Given the description of an element on the screen output the (x, y) to click on. 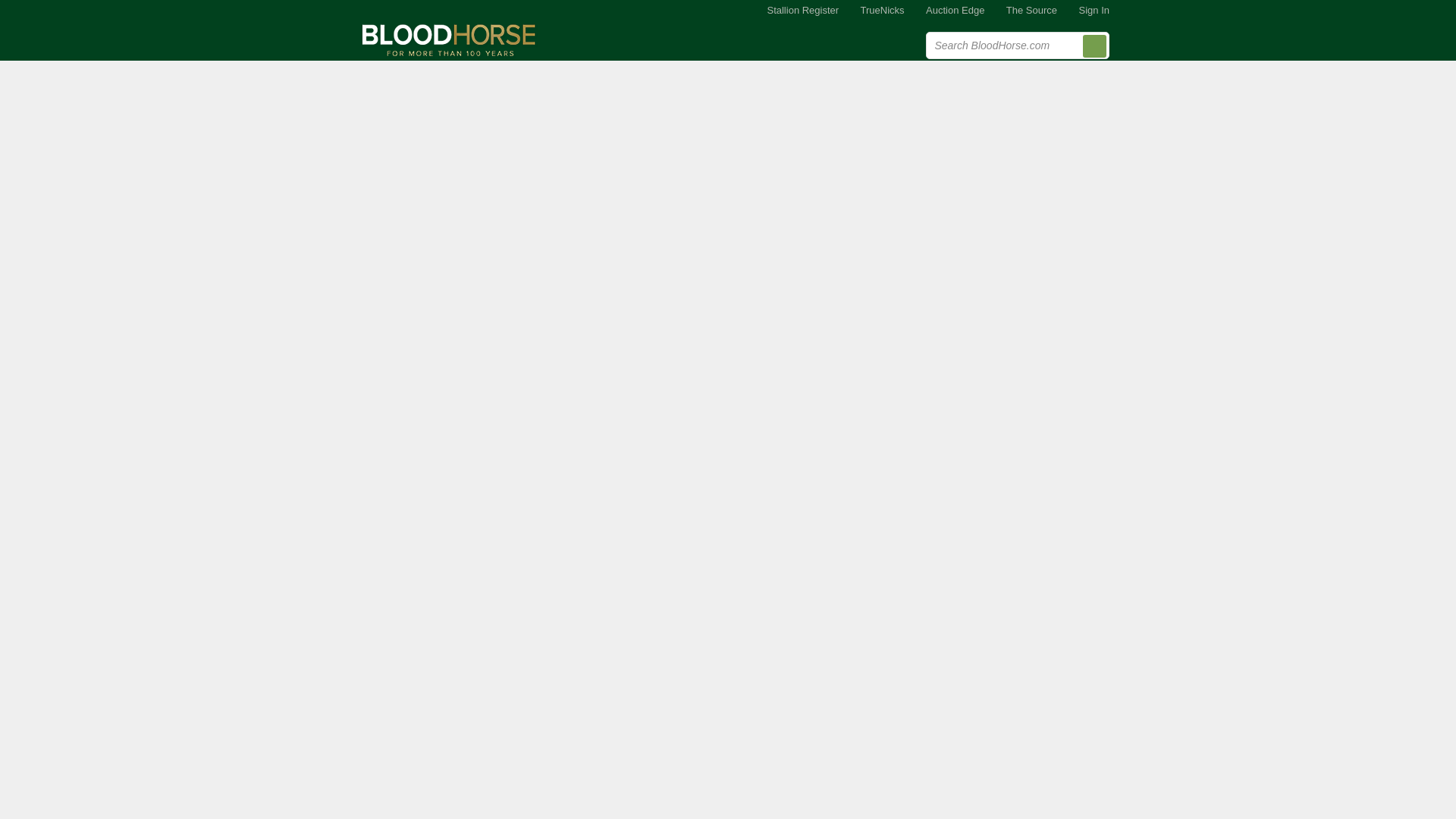
Search (1094, 46)
Auction Edge (954, 10)
Search (1094, 46)
Sign In (1094, 10)
Blood-Horse: Thoroughbred Horse Racing News (449, 40)
Stallion Register (802, 10)
TrueNicks (882, 10)
The Source (1031, 10)
